Given the description of an element on the screen output the (x, y) to click on. 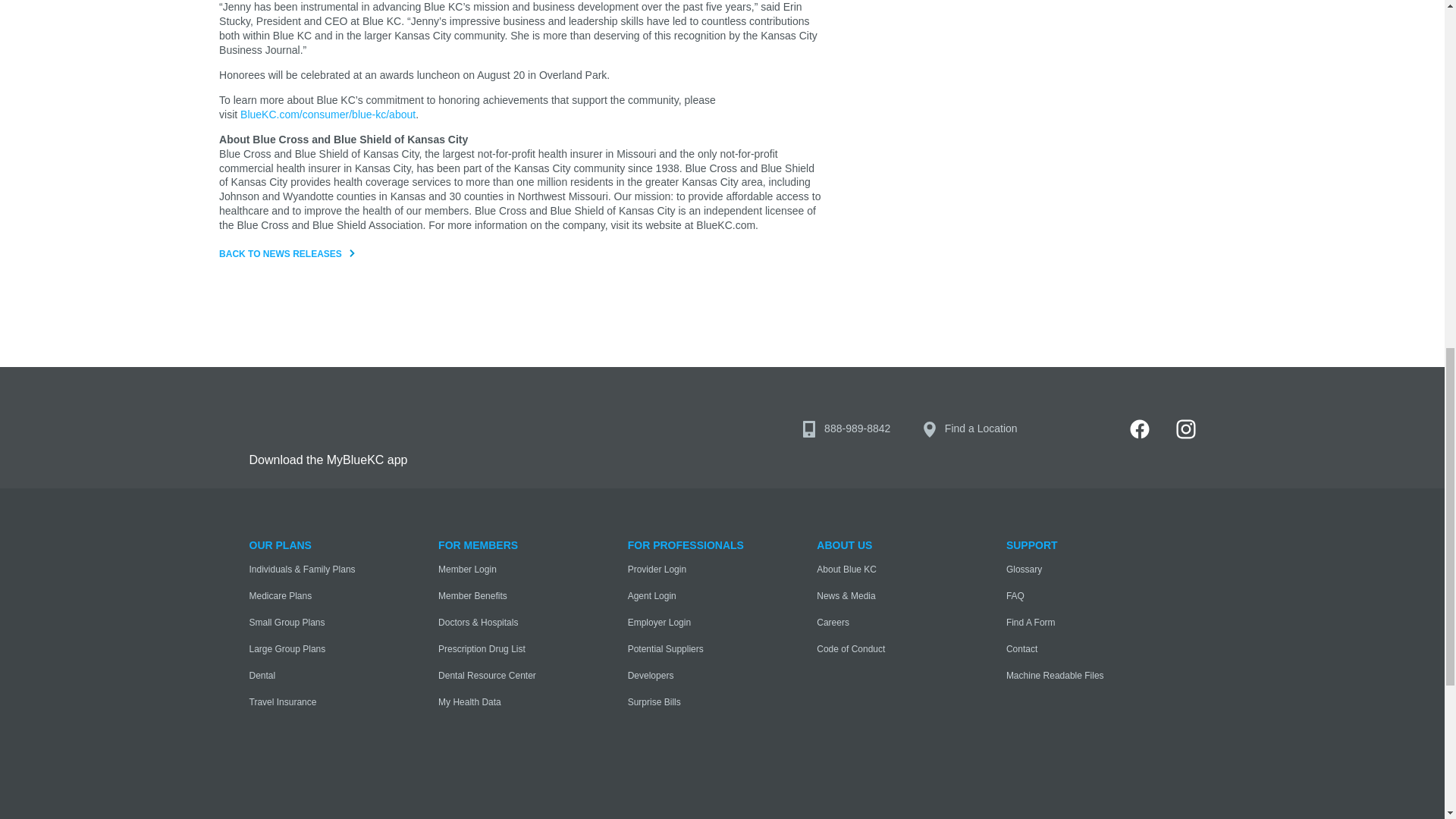
Dental (319, 675)
BACK TO NEWS RELEASES (289, 254)
Developers (698, 675)
Medicare Plans (319, 596)
Potential Suppliers (698, 649)
Member Login (508, 569)
Agent Login (698, 596)
Dental Resource Center (508, 675)
My Health Data (508, 702)
Employer Login (698, 622)
